Given the description of an element on the screen output the (x, y) to click on. 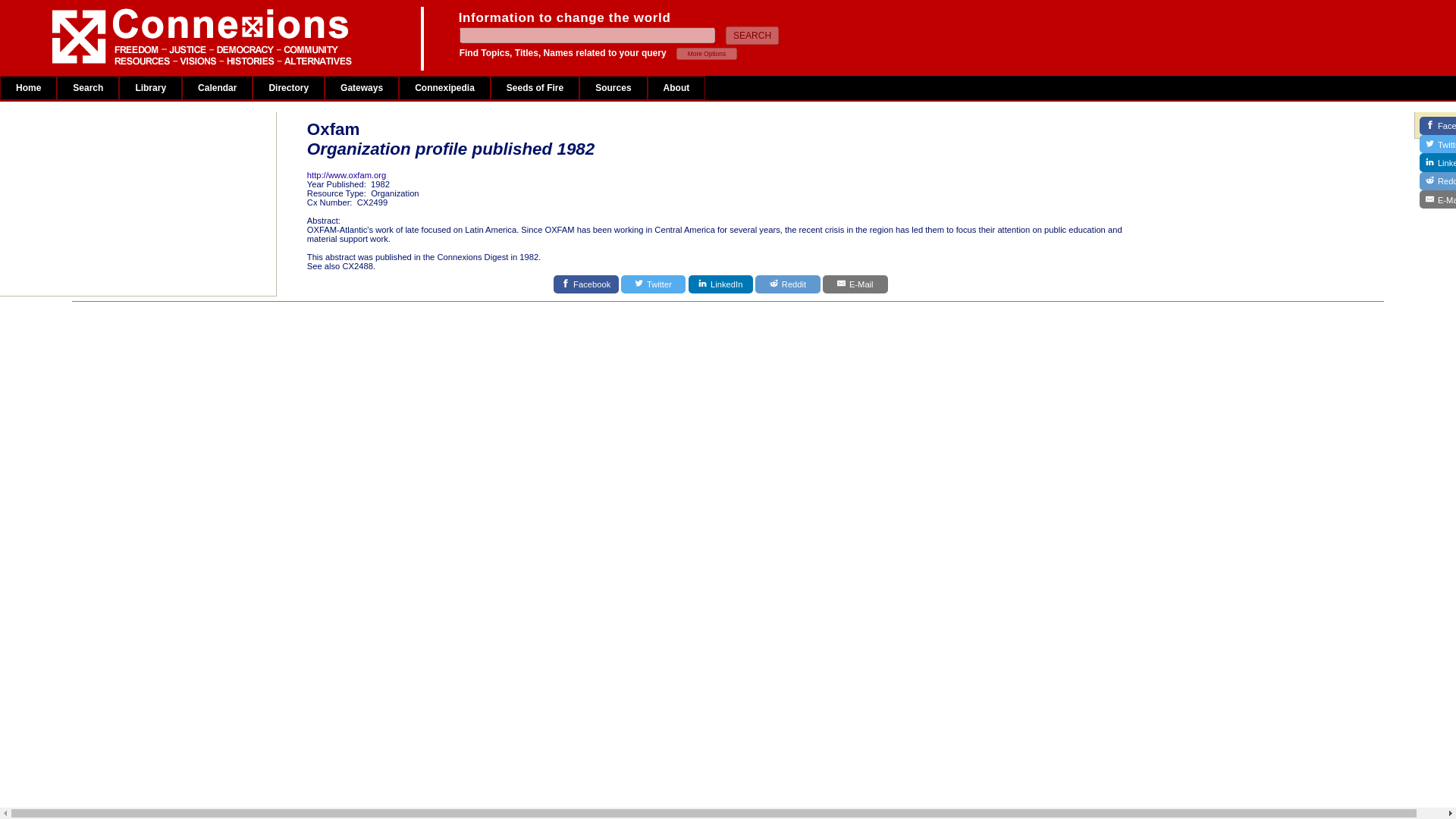
Directory (287, 87)
Calendar (216, 87)
Gateways (361, 87)
Library (150, 87)
SEARCH (751, 35)
Search (87, 87)
SEARCH (751, 35)
More Options (706, 53)
Home (28, 87)
